Given the description of an element on the screen output the (x, y) to click on. 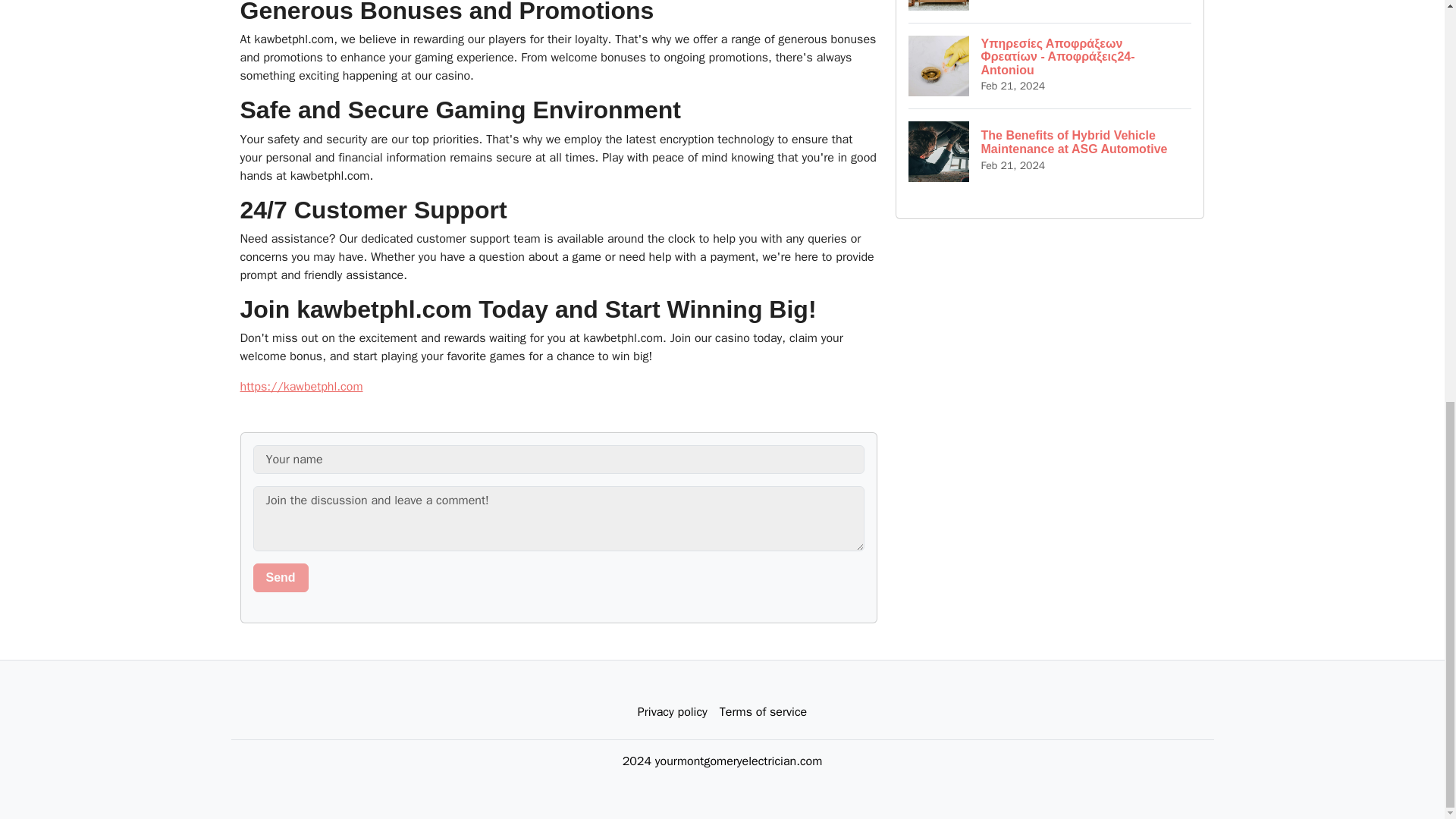
Privacy policy (672, 711)
Send (280, 577)
Send (280, 577)
Terms of service (762, 711)
